Given the description of an element on the screen output the (x, y) to click on. 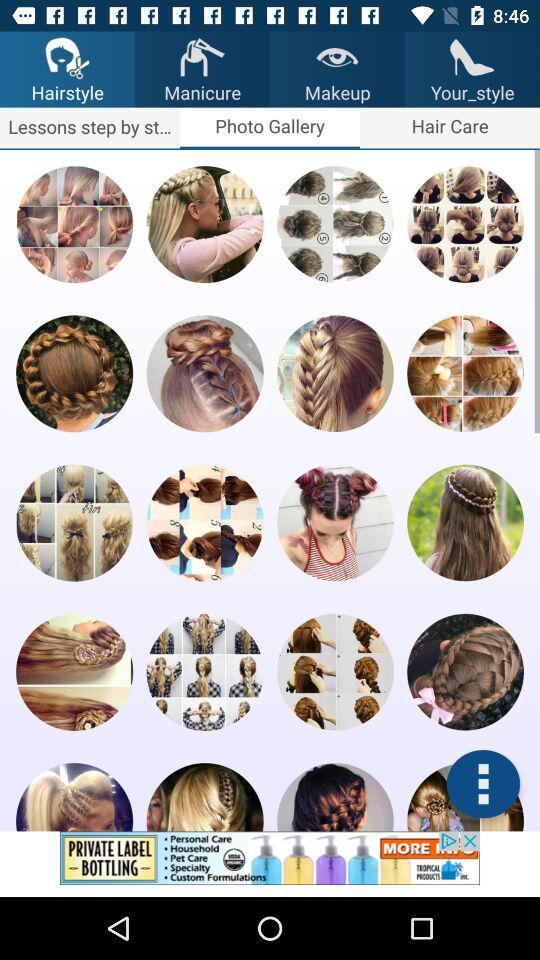
select this picture (465, 671)
